Given the description of an element on the screen output the (x, y) to click on. 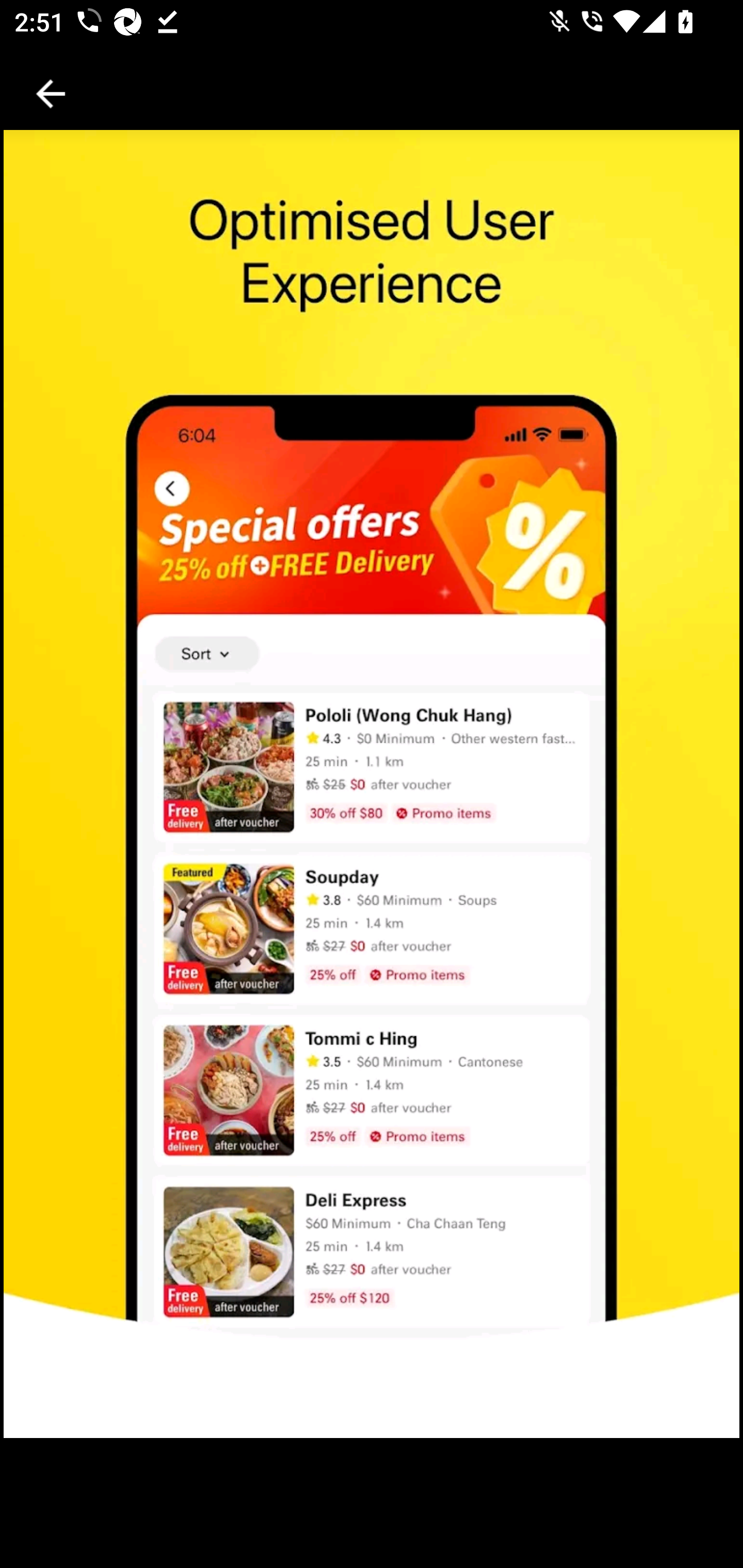
Back (50, 93)
